Given the description of an element on the screen output the (x, y) to click on. 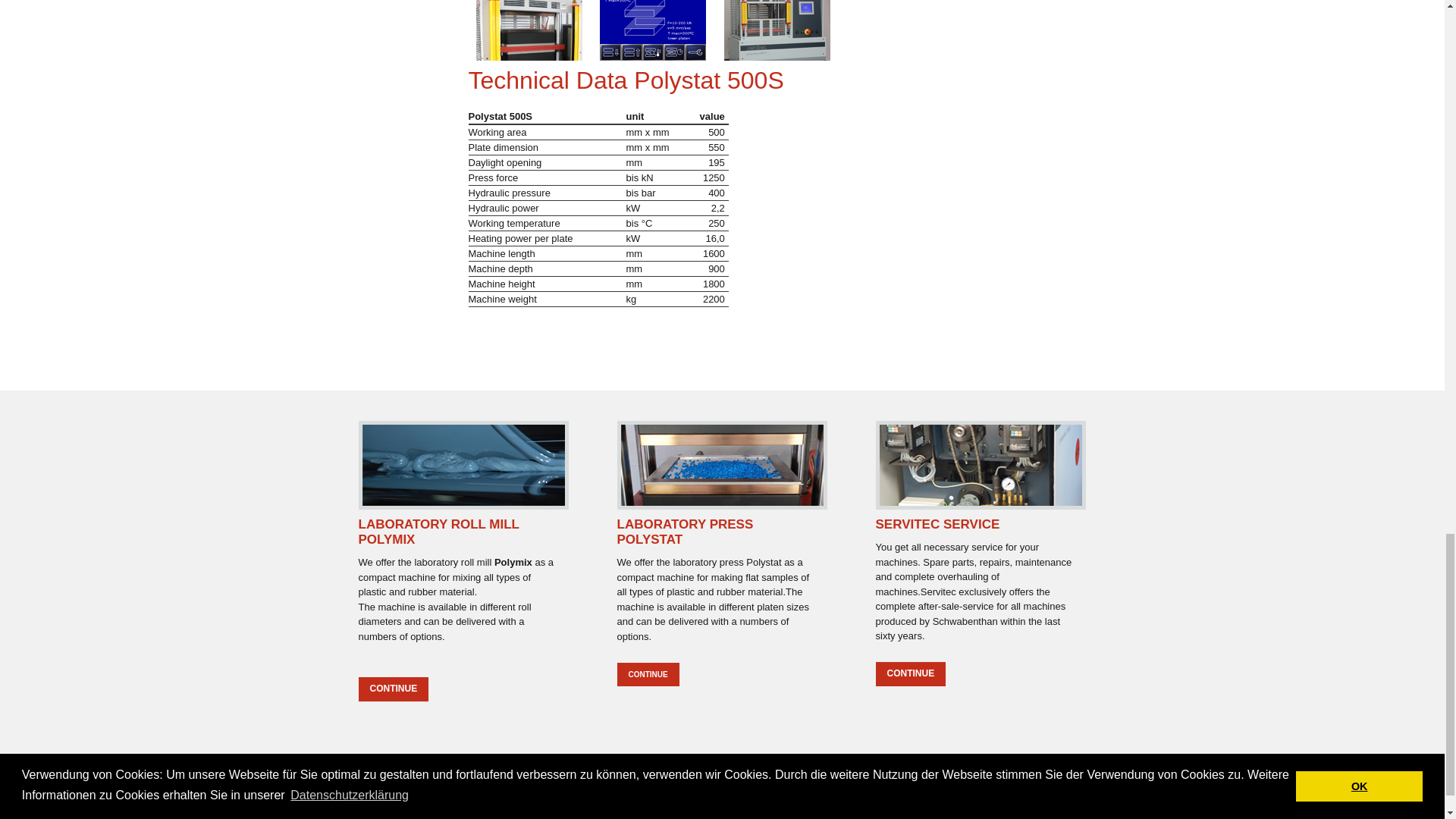
Presses (560, 802)
Rolling mills (386, 802)
Privacy Policy (1027, 802)
Service (467, 802)
CONTINUE (648, 674)
Contact (832, 802)
CONTINUE (393, 689)
Imprint (922, 802)
CONTINUE (909, 673)
News (737, 802)
